Given the description of an element on the screen output the (x, y) to click on. 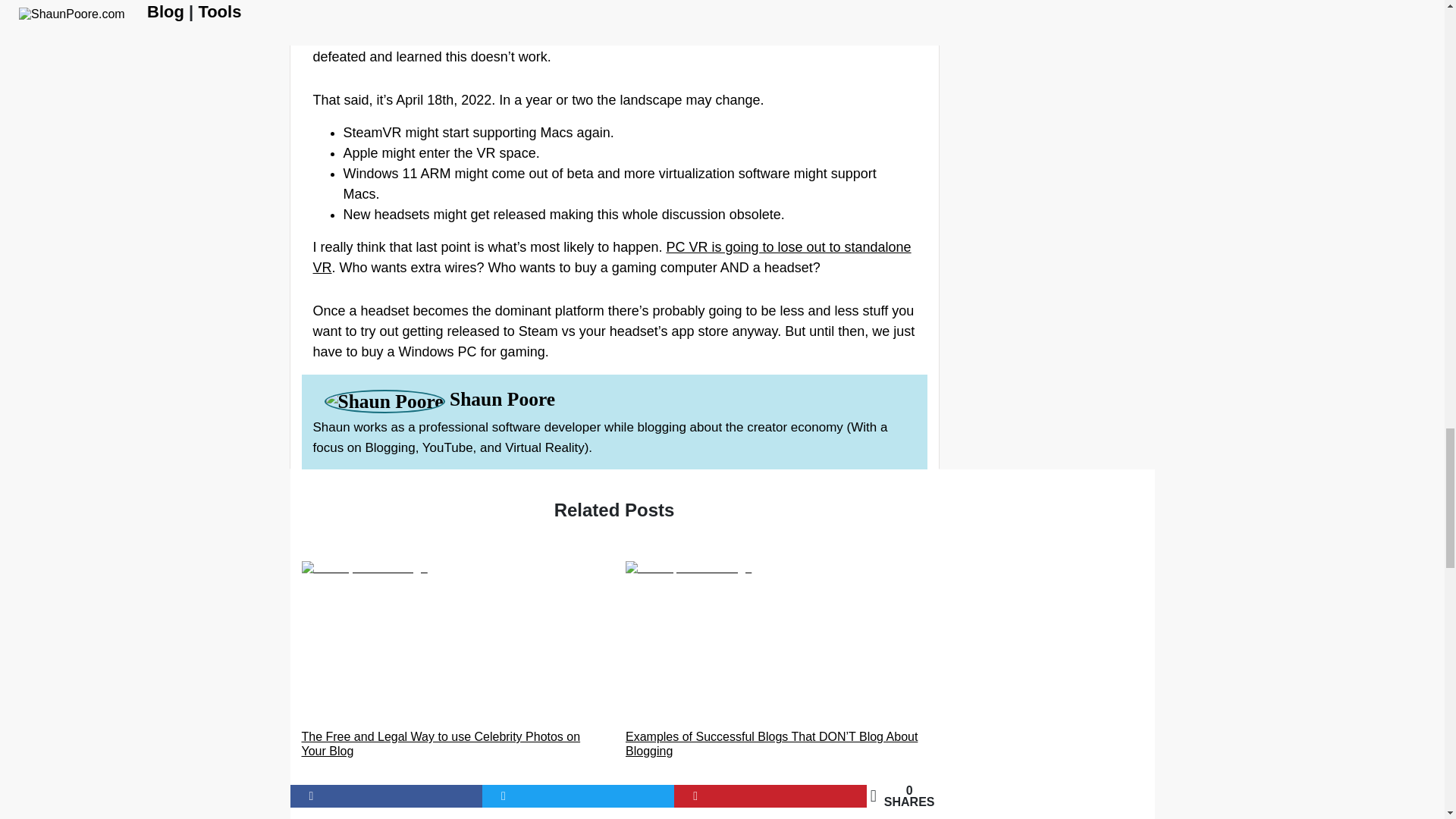
Shaun Poore (501, 400)
PC VR is going to lose out to standalone VR (612, 257)
The Free and Legal Way to use Celebrity Photos on Your Blog (452, 659)
